Given the description of an element on the screen output the (x, y) to click on. 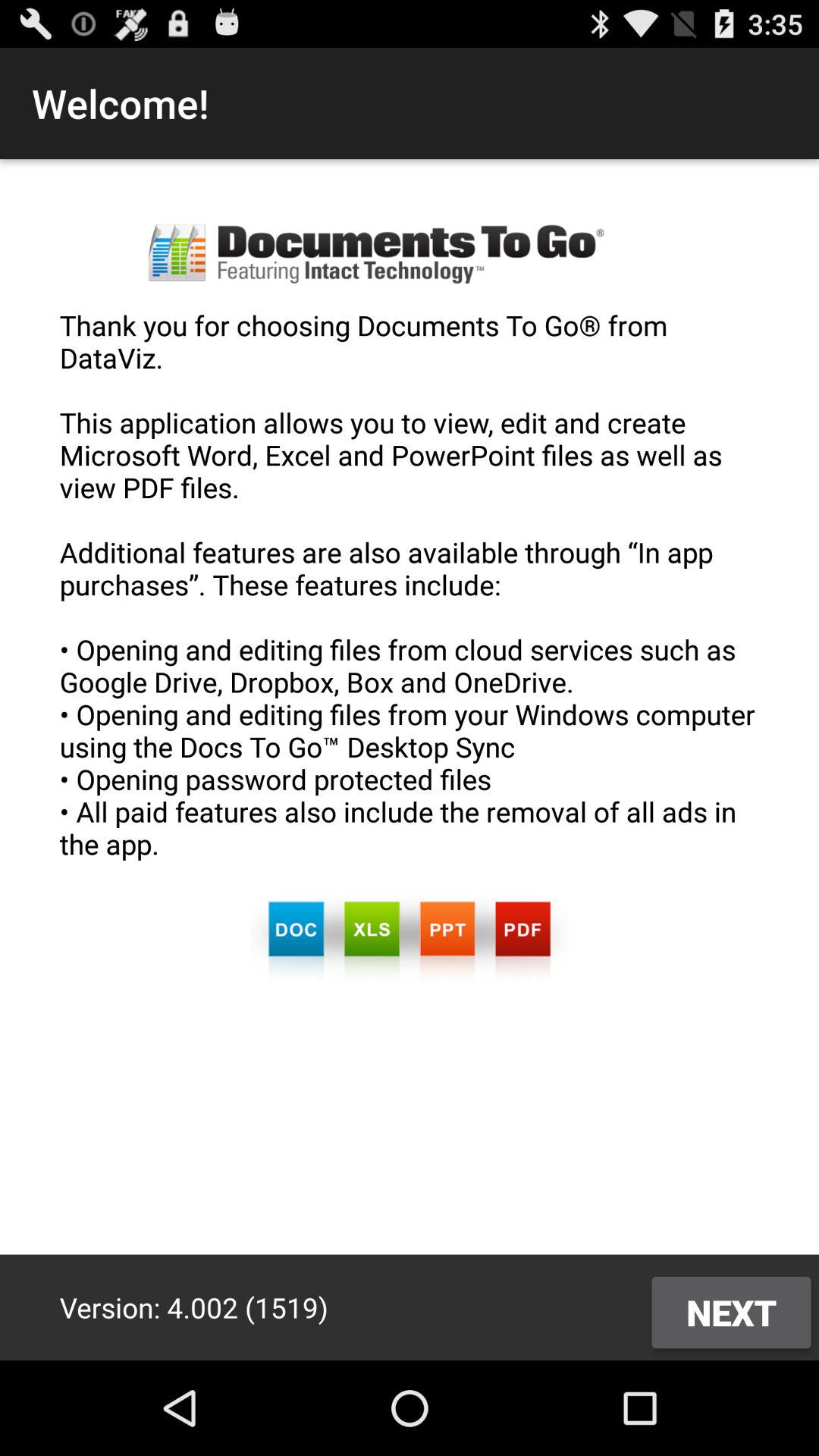
open the icon below thank you for app (731, 1312)
